Given the description of an element on the screen output the (x, y) to click on. 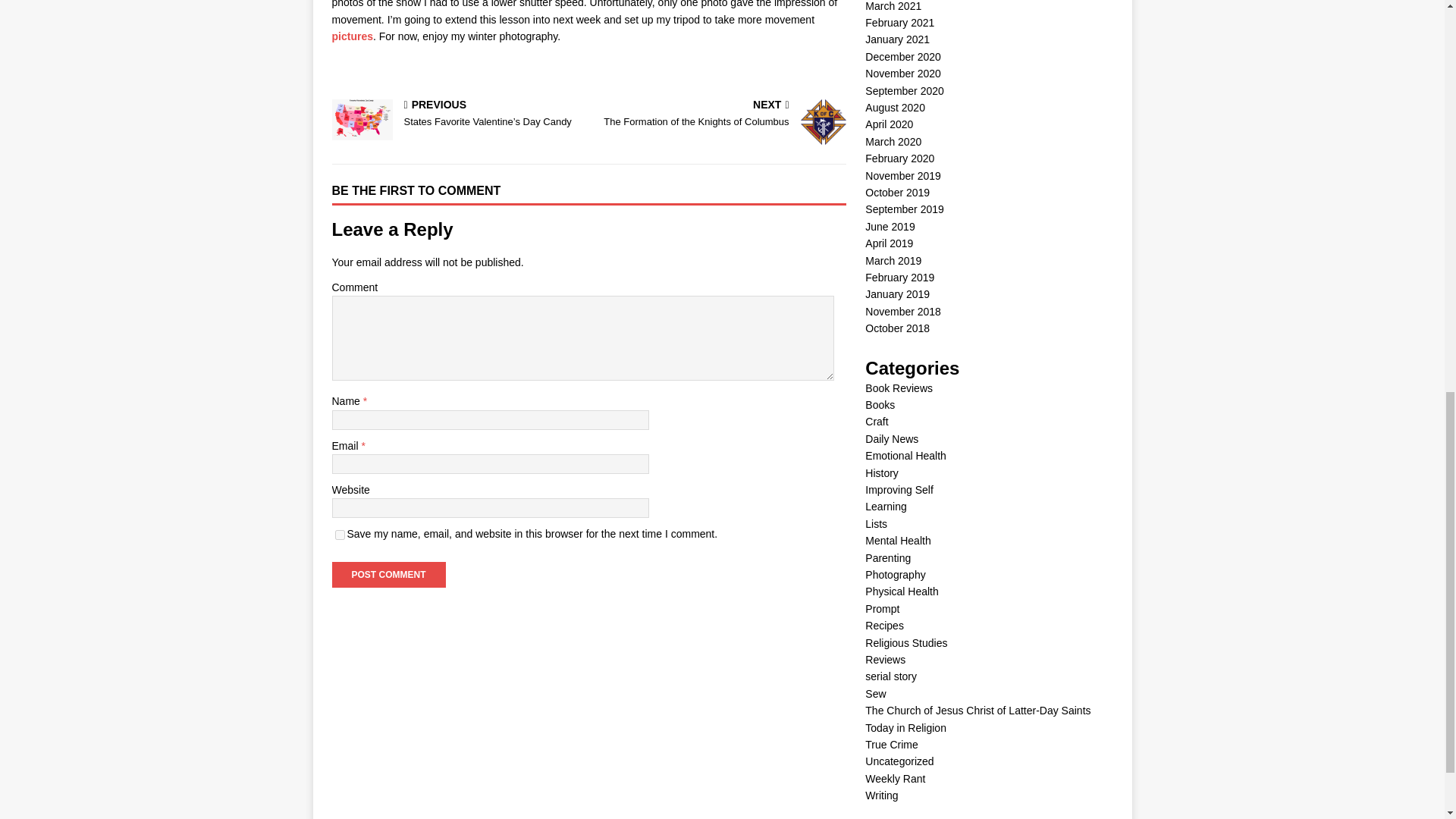
Post Comment (720, 114)
pictures (388, 574)
Post Comment (351, 36)
yes (388, 574)
